Given the description of an element on the screen output the (x, y) to click on. 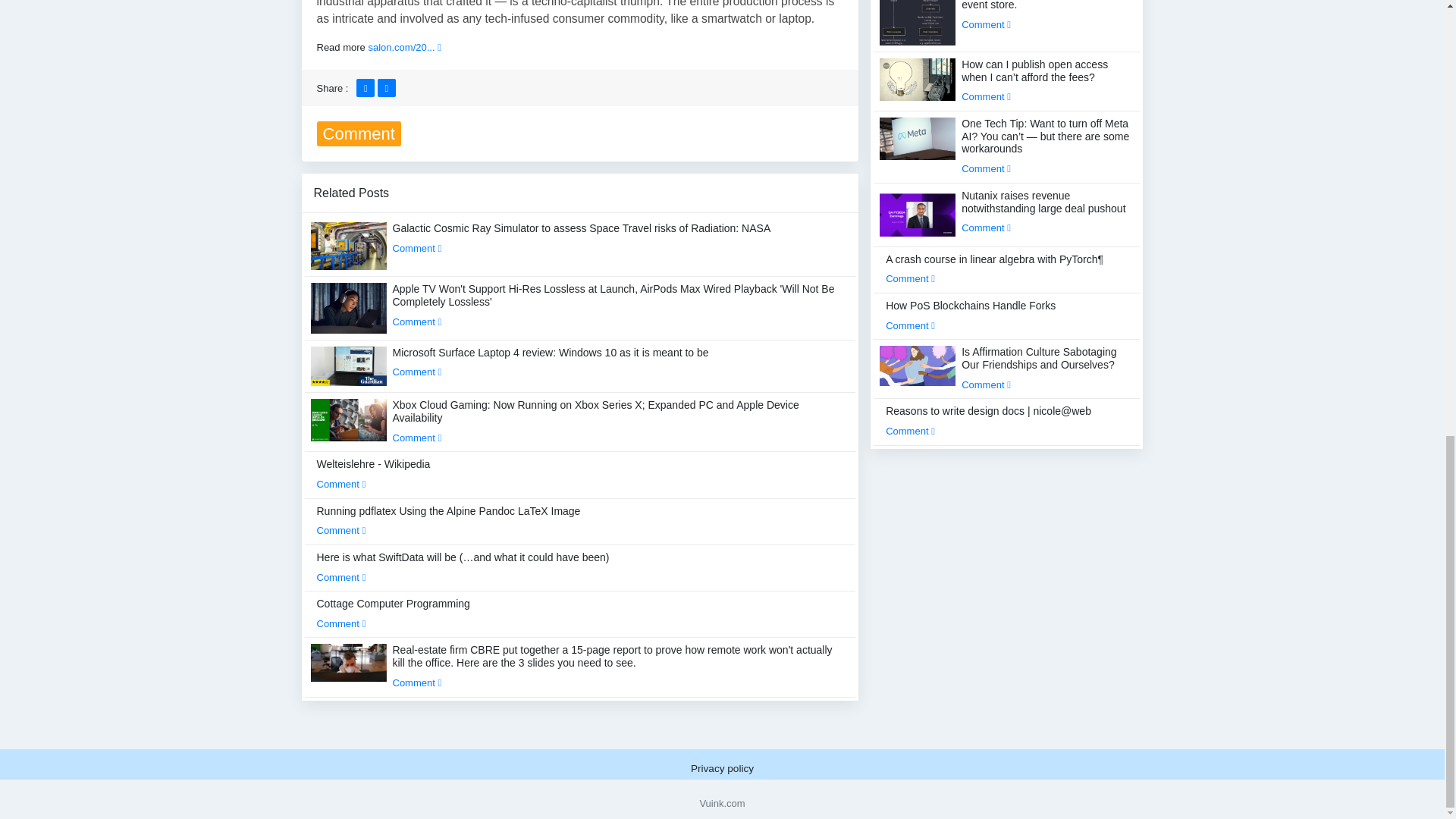
Running pdflatex Using the Alpine Pandoc LaTeX Image (448, 521)
Comment (417, 321)
Comment (341, 483)
Comment (341, 577)
Comment (417, 437)
Comment (417, 247)
Comment (341, 530)
